Given the description of an element on the screen output the (x, y) to click on. 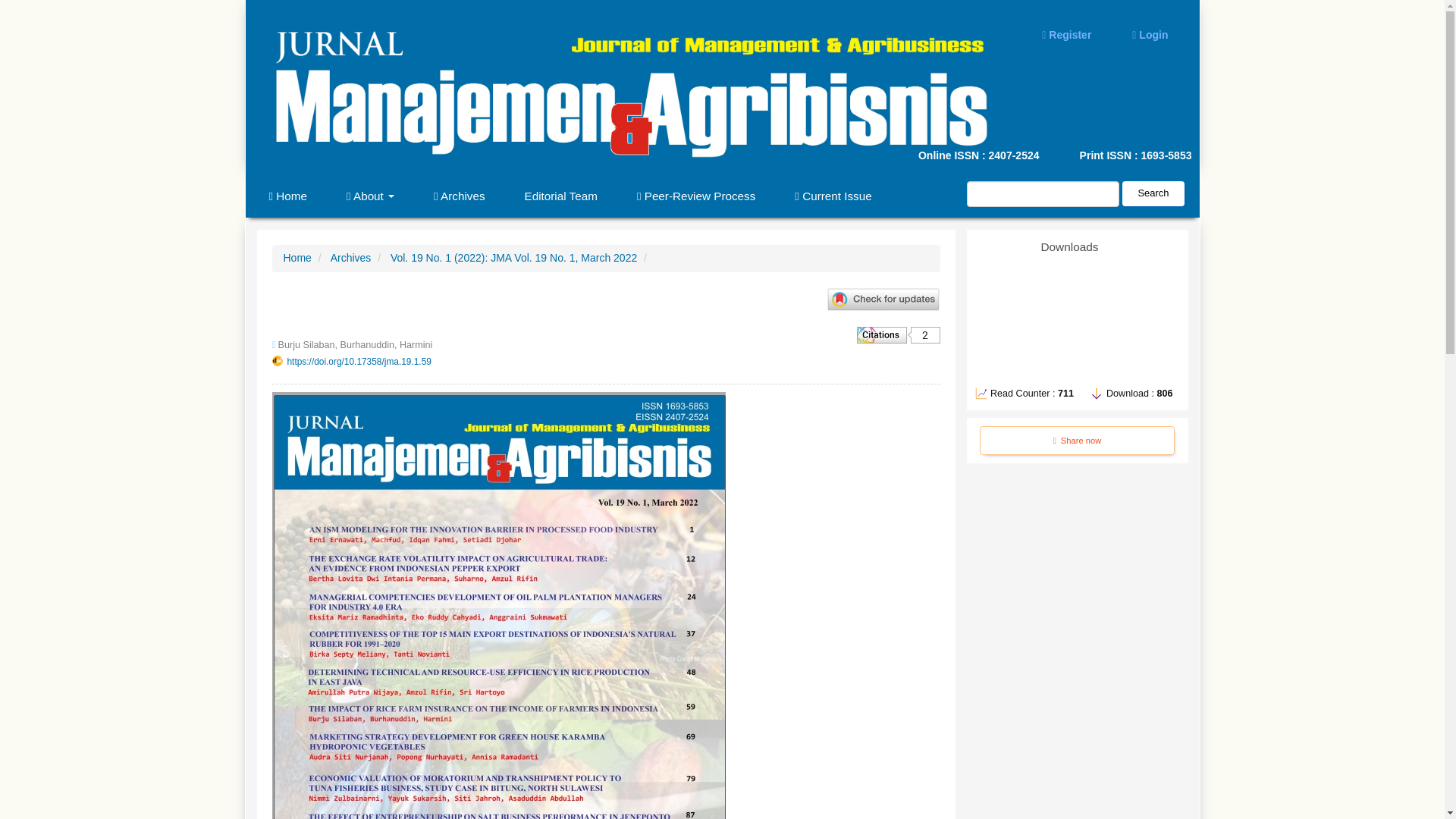
Editorial Team (561, 196)
Search (1152, 193)
Login (1150, 34)
About (369, 196)
Archives (458, 196)
Online ISSN : 2407-2524 (853, 155)
2 (898, 334)
Home (287, 196)
Peer-Review Process (695, 196)
Current Issue (832, 196)
Home (297, 257)
Register (1066, 34)
Archives (350, 257)
Print ISSN : 1693-5853 (1121, 155)
